Given the description of an element on the screen output the (x, y) to click on. 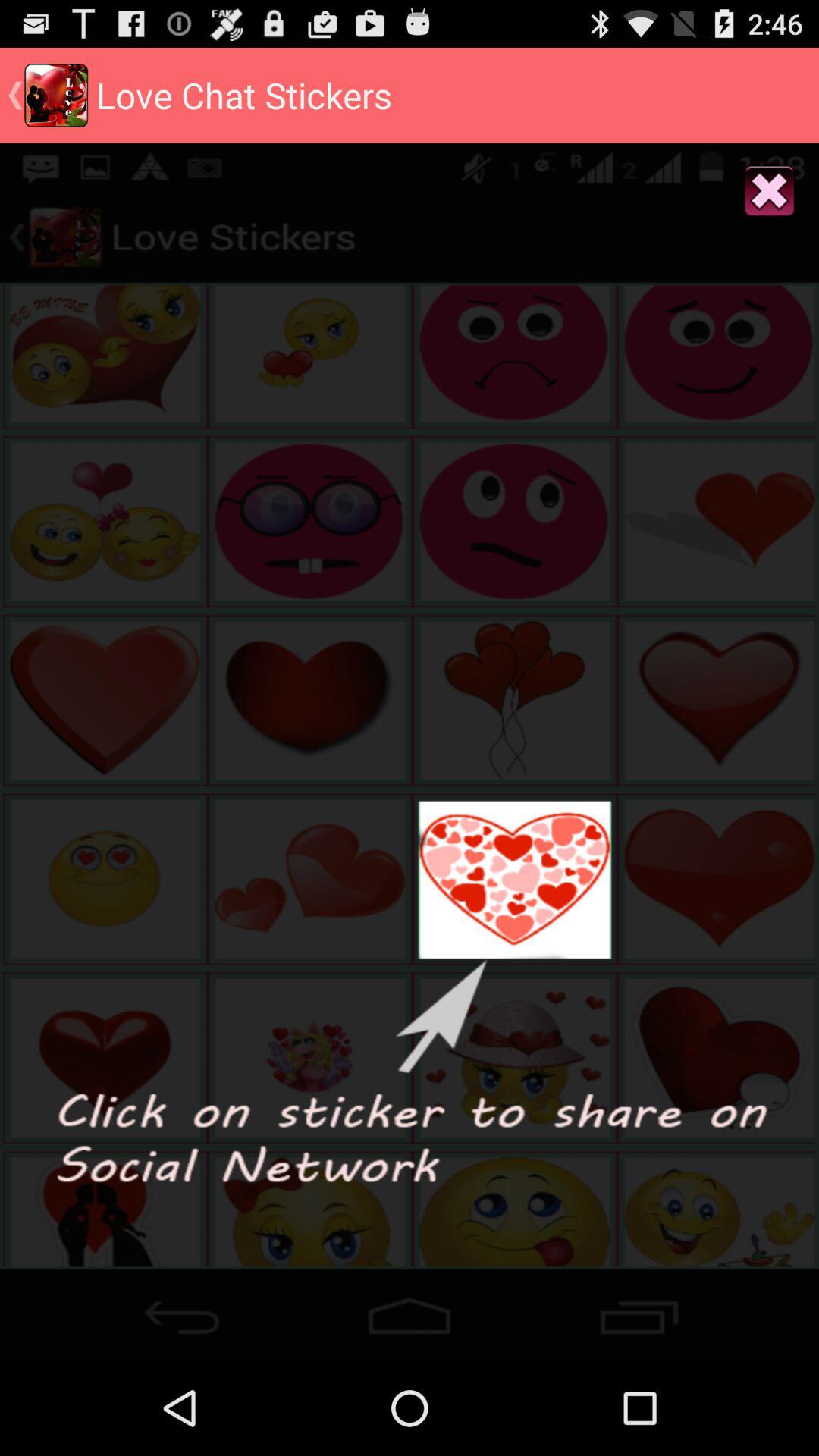
close option (769, 192)
